Given the description of an element on the screen output the (x, y) to click on. 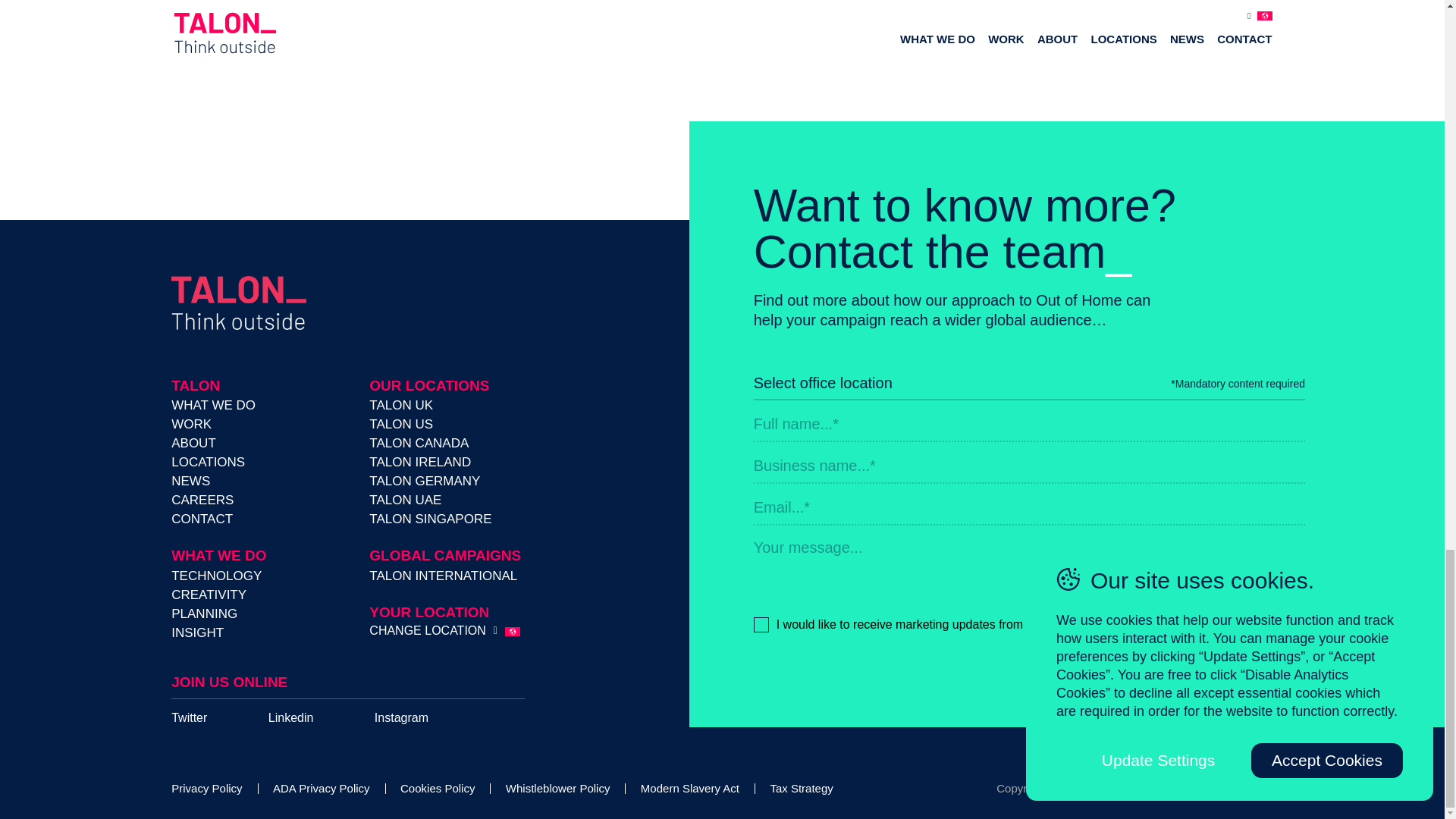
Select office location (963, 383)
I would like to receive marketing updates from Talon (1029, 624)
